Given the description of an element on the screen output the (x, y) to click on. 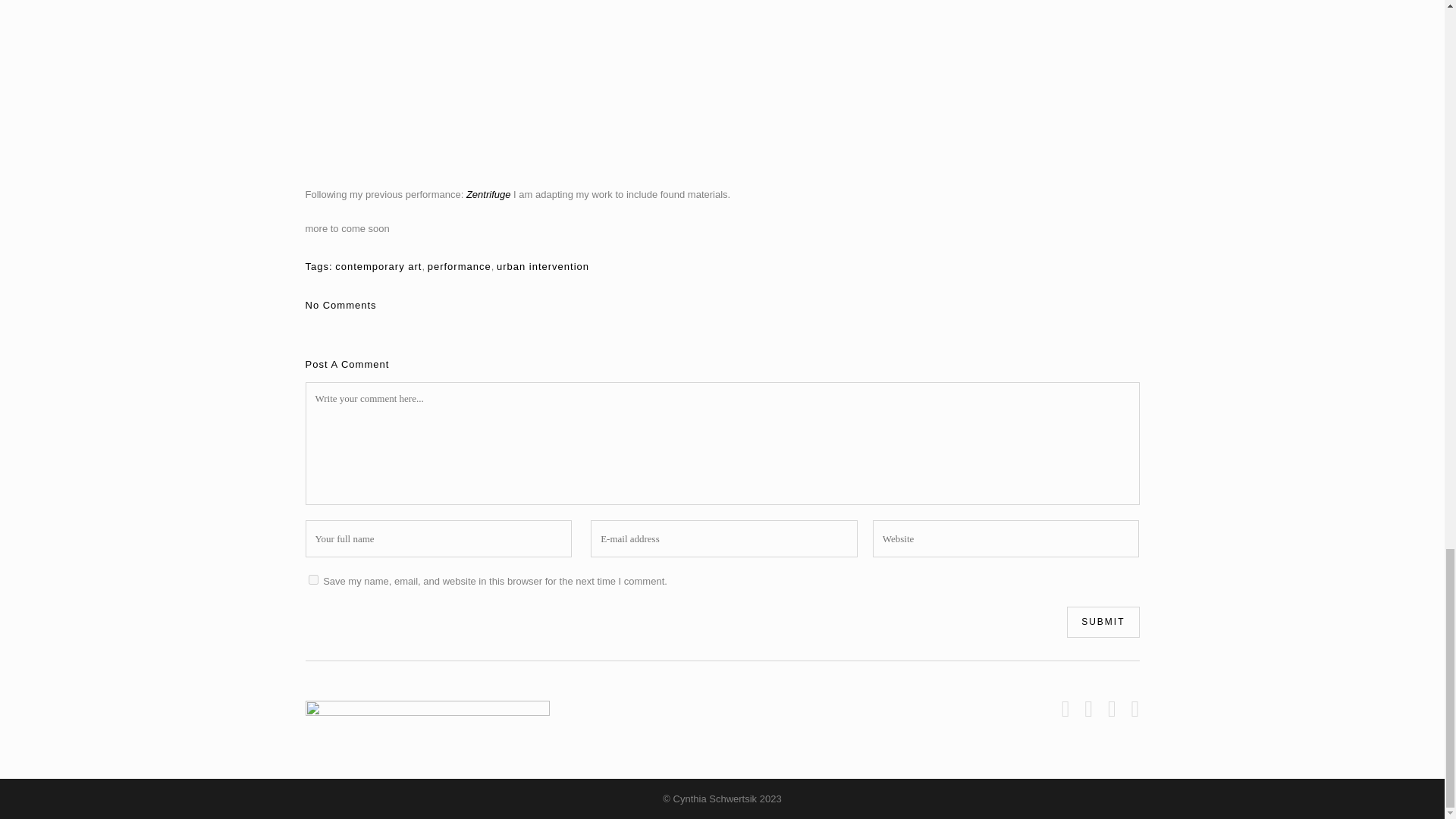
urban intervention (542, 266)
performance (460, 266)
yes (312, 579)
Zentrifuge (488, 194)
contemporary art (378, 266)
Submit (1102, 622)
Submit (1102, 622)
